Given the description of an element on the screen output the (x, y) to click on. 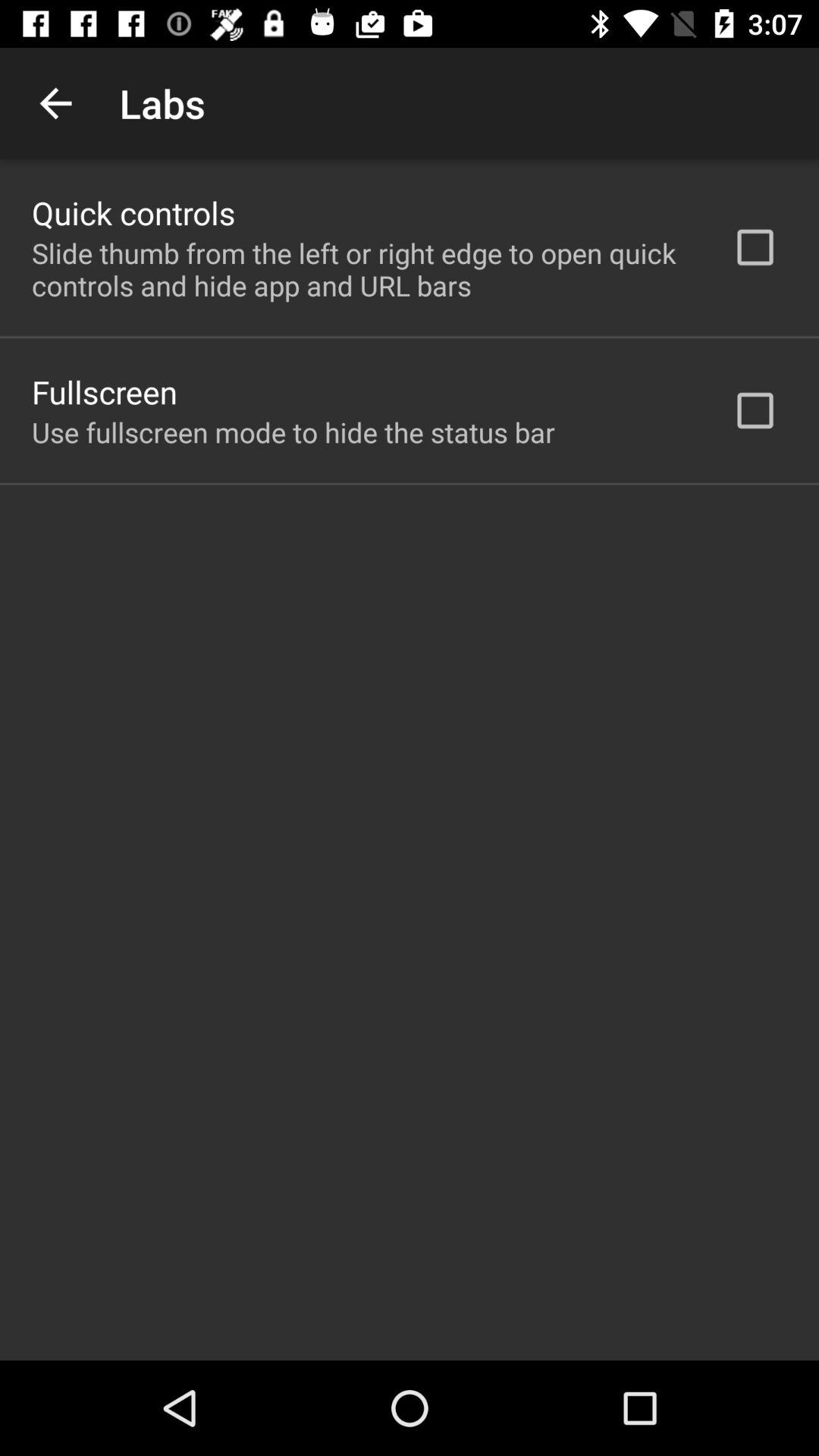
press item next to the labs (55, 103)
